Given the description of an element on the screen output the (x, y) to click on. 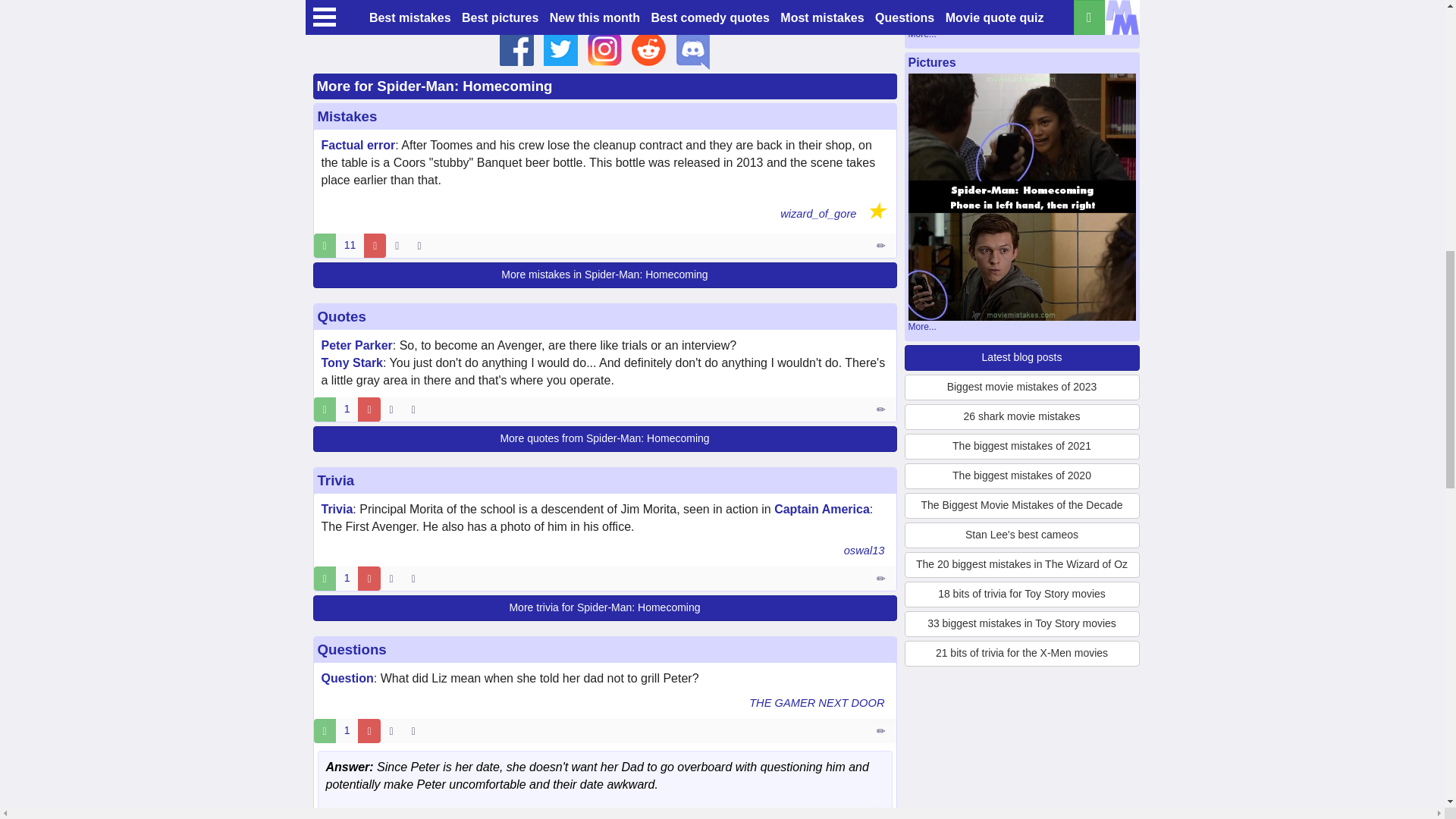
I like this (329, 3)
I dislike this (373, 3)
